Given the description of an element on the screen output the (x, y) to click on. 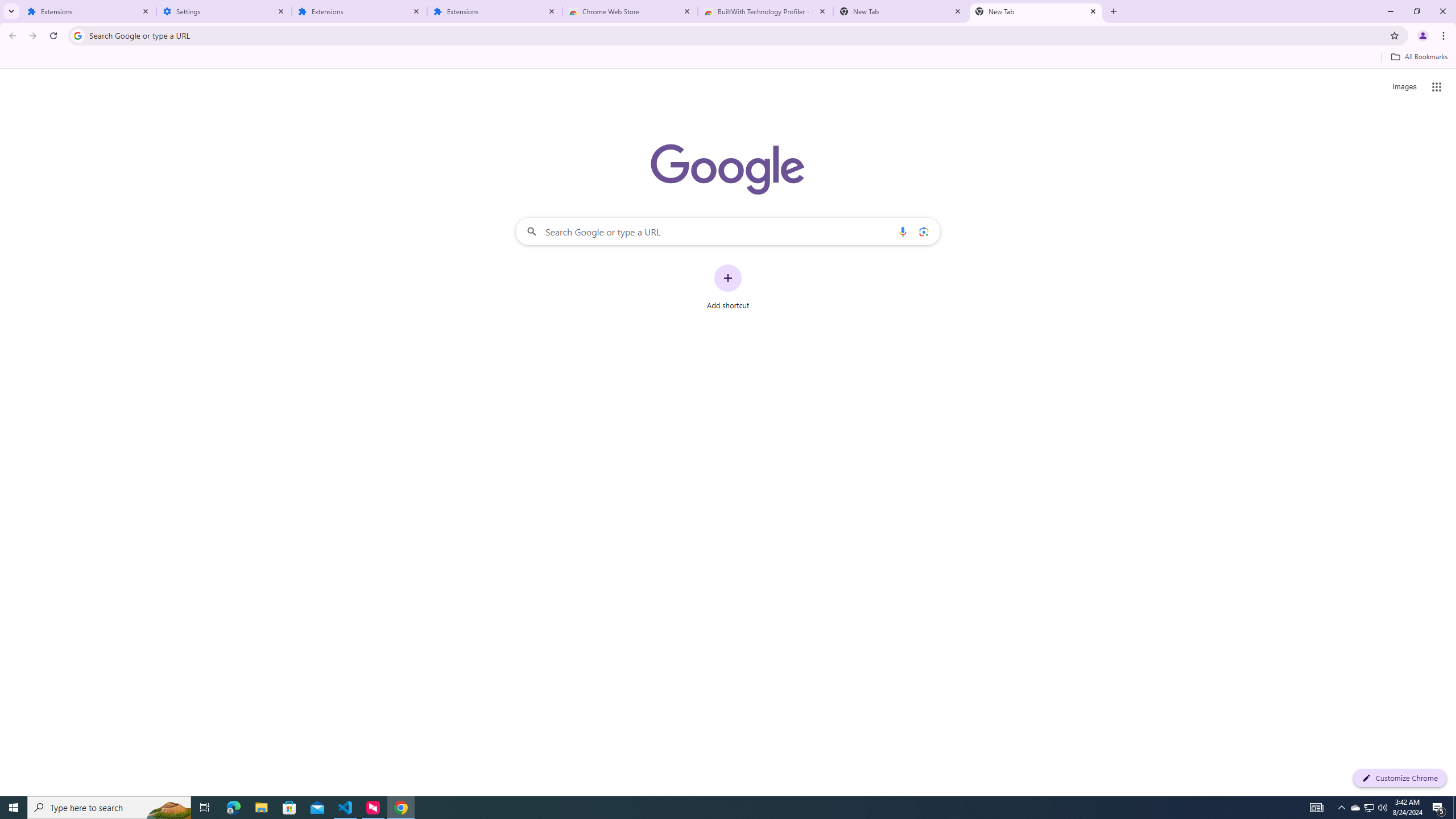
Settings (224, 11)
BuiltWith Technology Profiler - Chrome Web Store (765, 11)
